Given the description of an element on the screen output the (x, y) to click on. 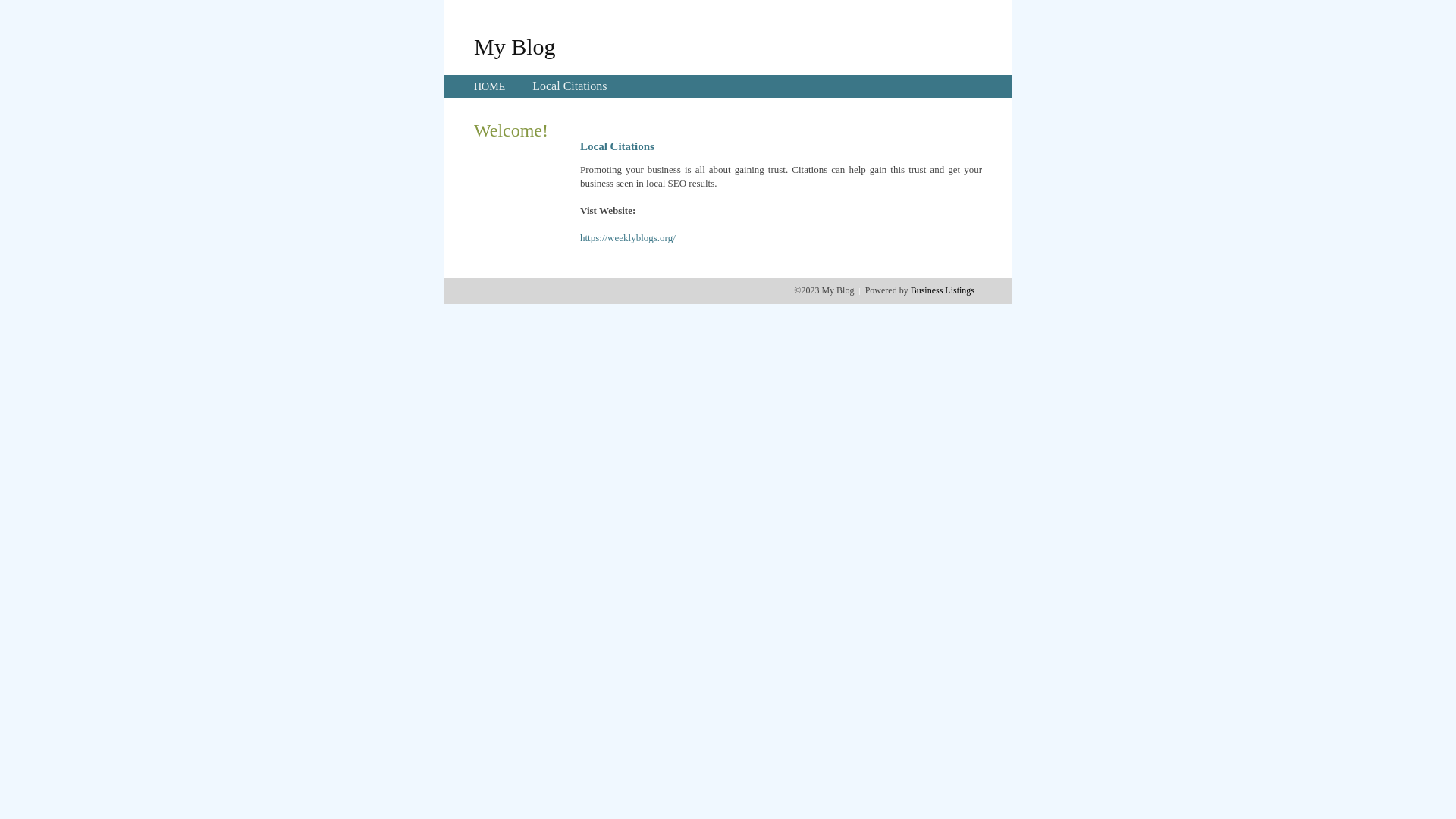
My Blog Element type: text (514, 46)
https://weeklyblogs.org/ Element type: text (627, 237)
Business Listings Element type: text (942, 290)
HOME Element type: text (489, 86)
Local Citations Element type: text (569, 85)
